Given the description of an element on the screen output the (x, y) to click on. 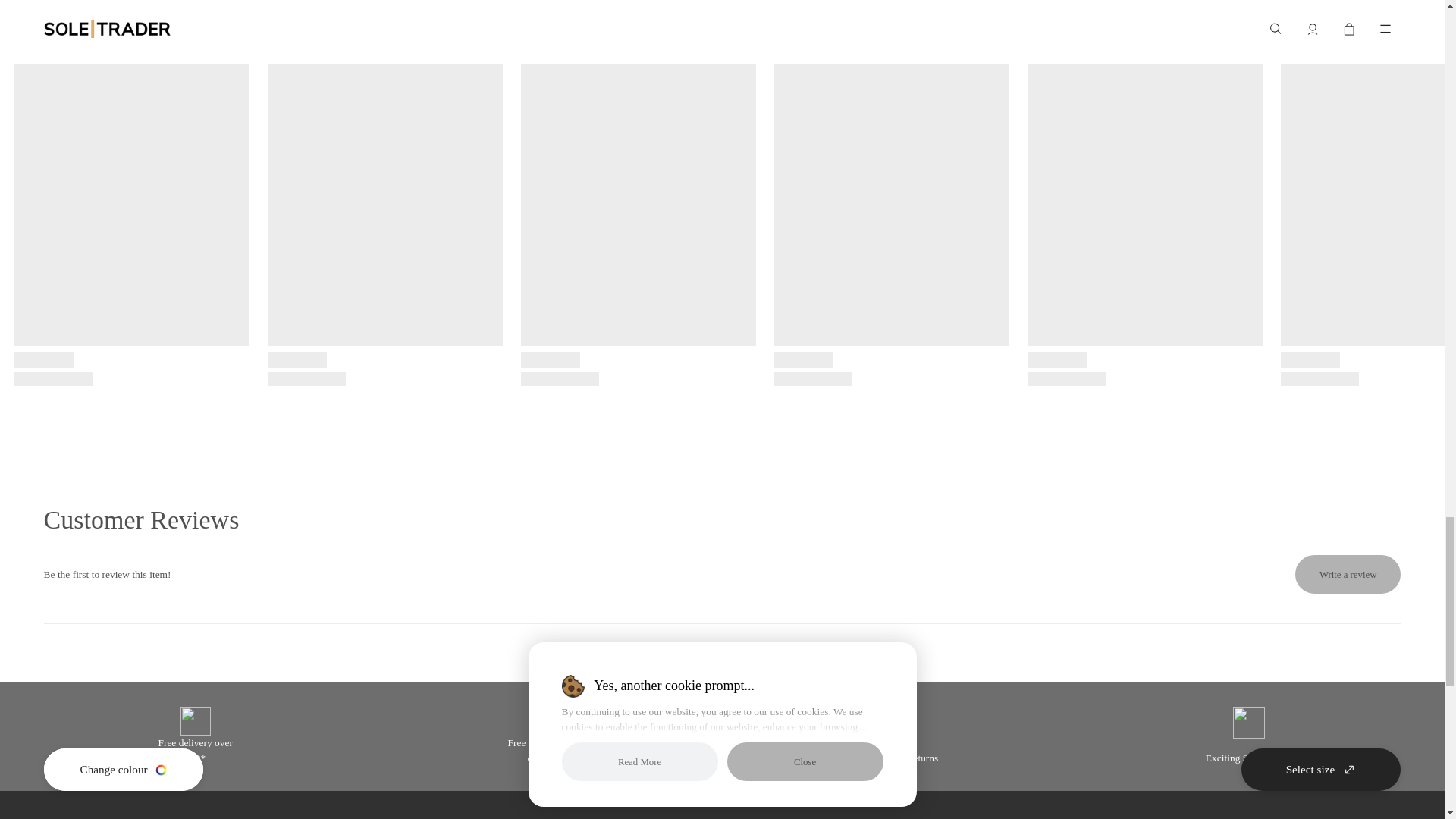
Write a review (1347, 574)
